Given the description of an element on the screen output the (x, y) to click on. 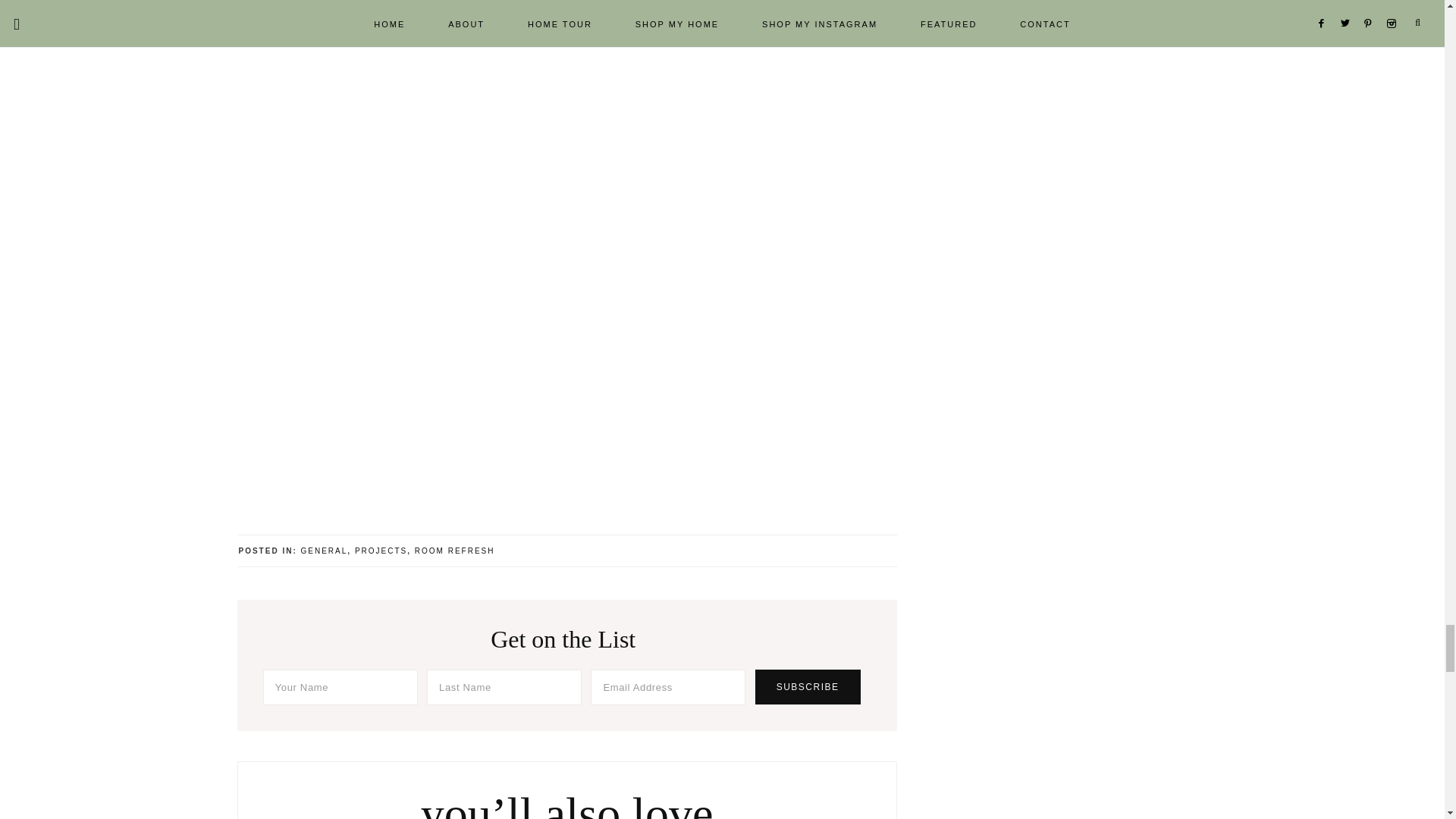
PROJECTS (381, 551)
GENERAL (324, 551)
Subscribe (807, 686)
